Given the description of an element on the screen output the (x, y) to click on. 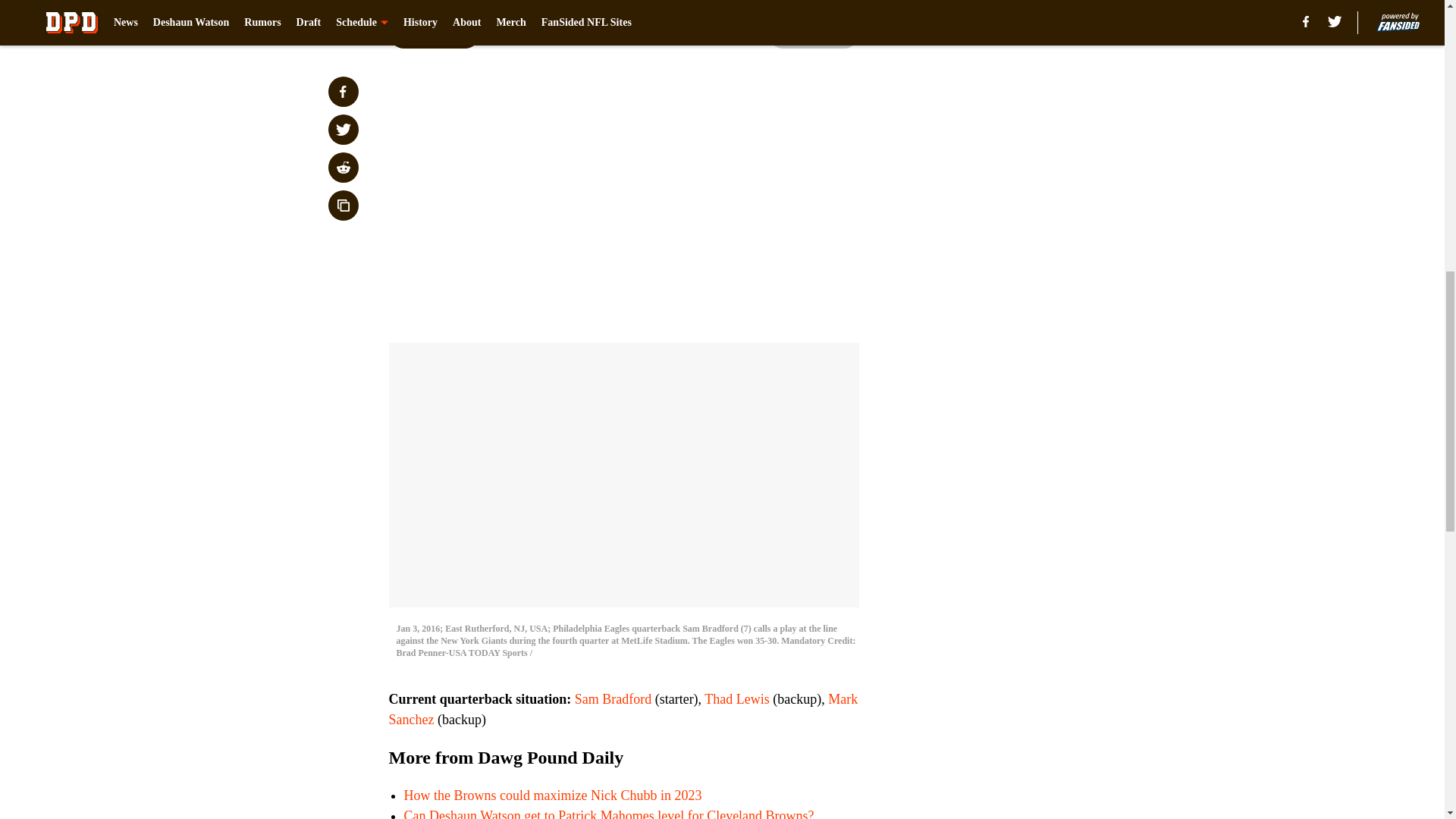
Mark Sanchez (622, 709)
Prev (433, 33)
Thad Lewis (736, 698)
Next (813, 33)
How the Browns could maximize Nick Chubb in 2023 (552, 795)
Sam Bradford (612, 698)
